Given the description of an element on the screen output the (x, y) to click on. 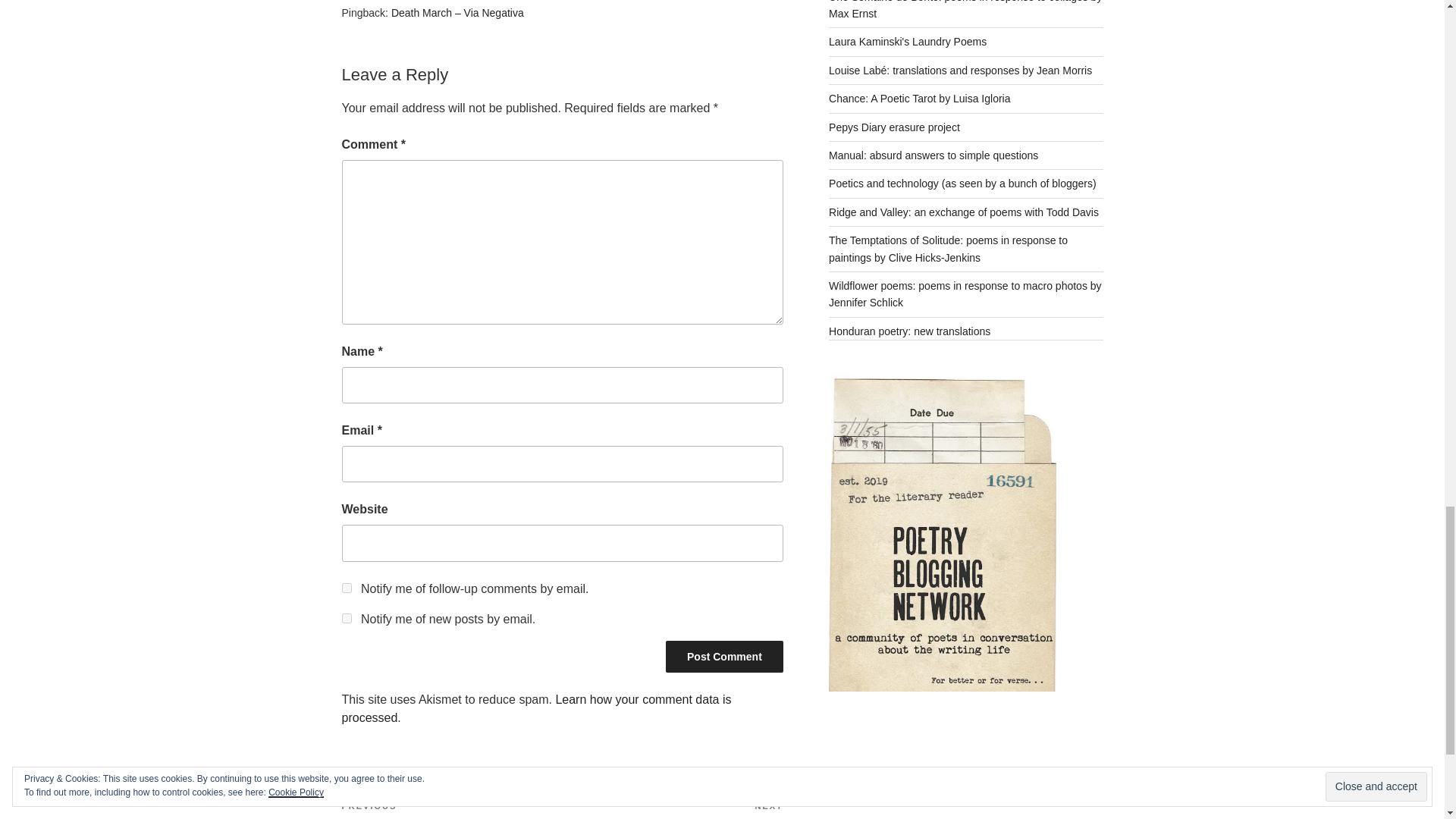
Post Comment (724, 656)
subscribe (345, 587)
subscribe (345, 618)
Learn how your comment data is processed (535, 707)
Post Comment (672, 809)
